Given the description of an element on the screen output the (x, y) to click on. 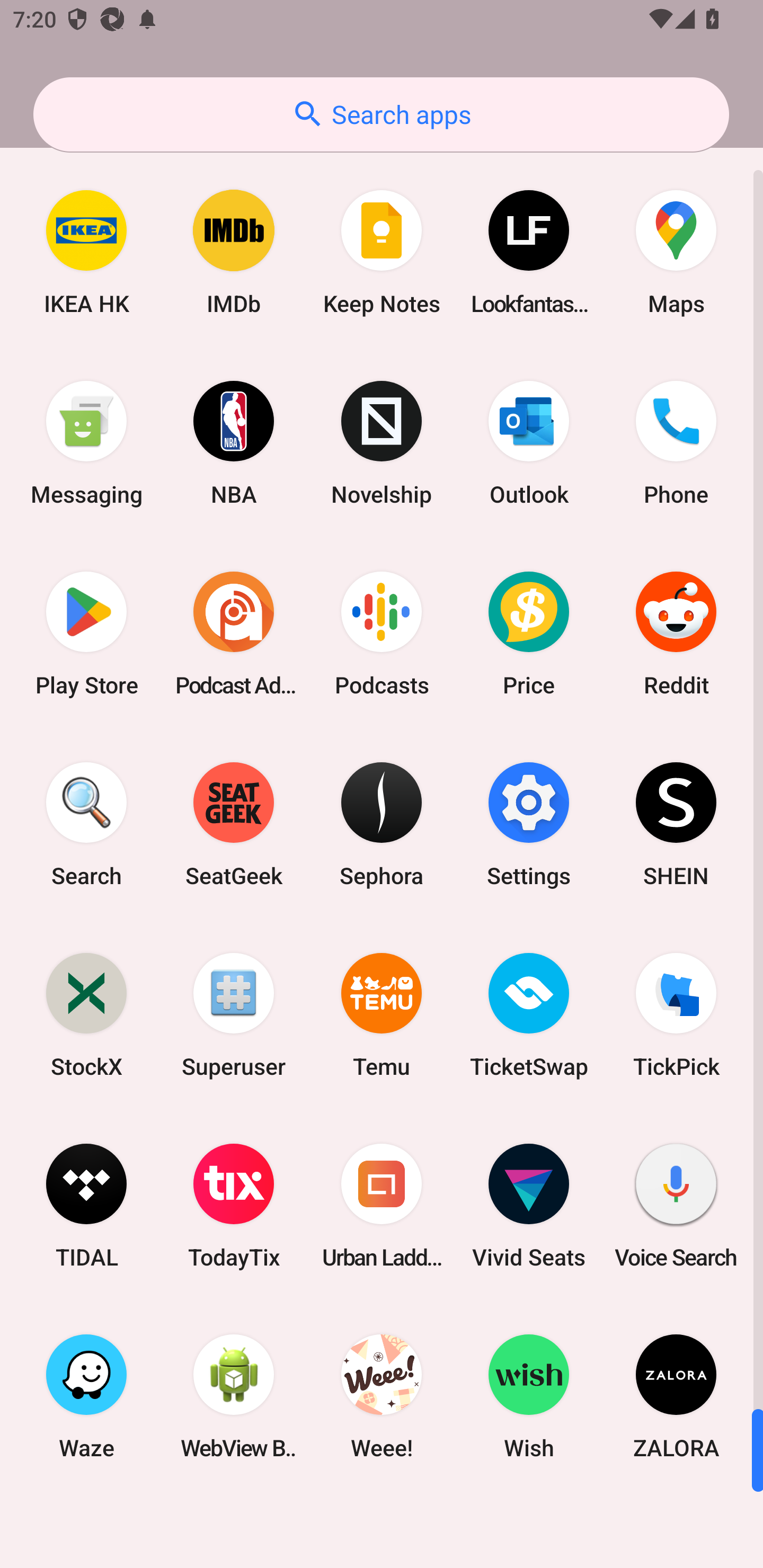
  Search apps (381, 114)
IKEA HK (86, 252)
IMDb (233, 252)
Keep Notes (381, 252)
Lookfantastic (528, 252)
Maps (676, 252)
Messaging (86, 442)
NBA (233, 442)
Novelship (381, 442)
Outlook (528, 442)
Phone (676, 442)
Play Store (86, 633)
Podcast Addict (233, 633)
Podcasts (381, 633)
Price (528, 633)
Reddit (676, 633)
Search (86, 823)
SeatGeek (233, 823)
Sephora (381, 823)
Settings (528, 823)
SHEIN (676, 823)
StockX (86, 1014)
Superuser (233, 1014)
Temu (381, 1014)
TicketSwap (528, 1014)
TickPick (676, 1014)
TIDAL (86, 1205)
TodayTix (233, 1205)
Urban Ladder (381, 1205)
Vivid Seats (528, 1205)
Voice Search (676, 1205)
Waze (86, 1396)
WebView Browser Tester (233, 1396)
Weee! (381, 1396)
Wish (528, 1396)
ZALORA (676, 1396)
